Given the description of an element on the screen output the (x, y) to click on. 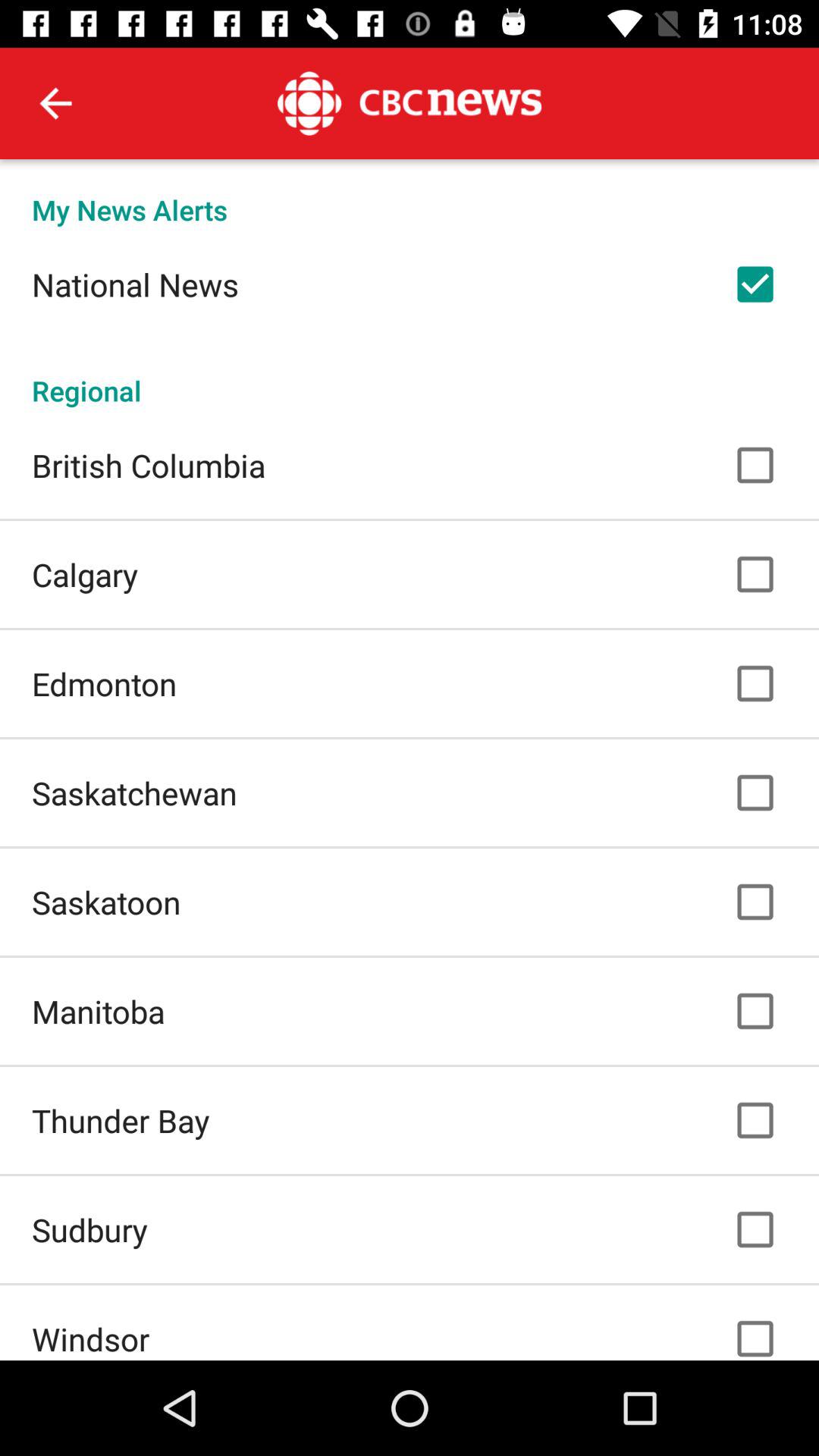
launch the item above calgary item (148, 464)
